Given the description of an element on the screen output the (x, y) to click on. 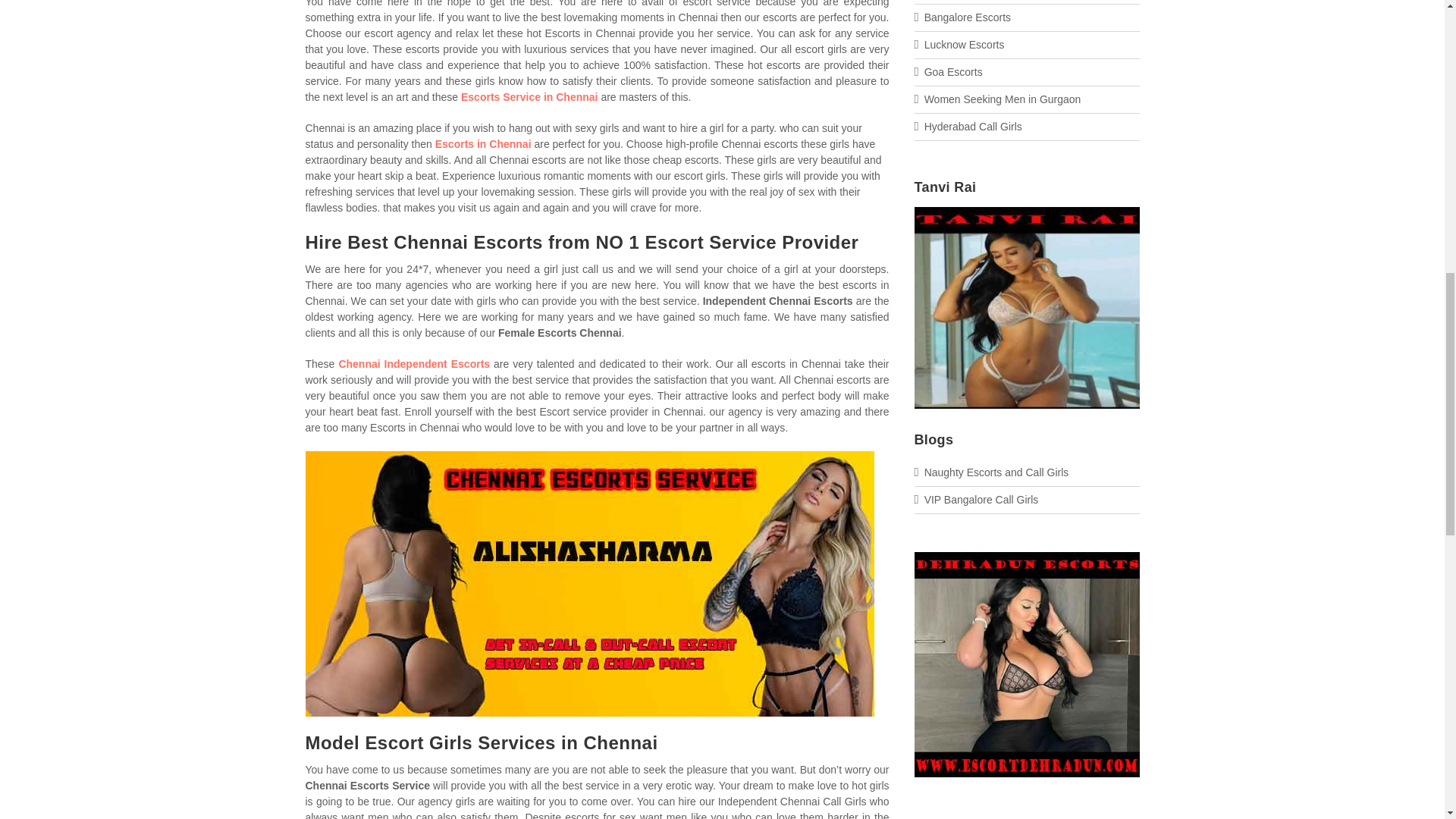
Chennai Independent Escorts (413, 363)
Escorts Service in Chennai (529, 96)
Dehradun Escorts (1027, 764)
Escorts in Chennai (483, 143)
